Given the description of an element on the screen output the (x, y) to click on. 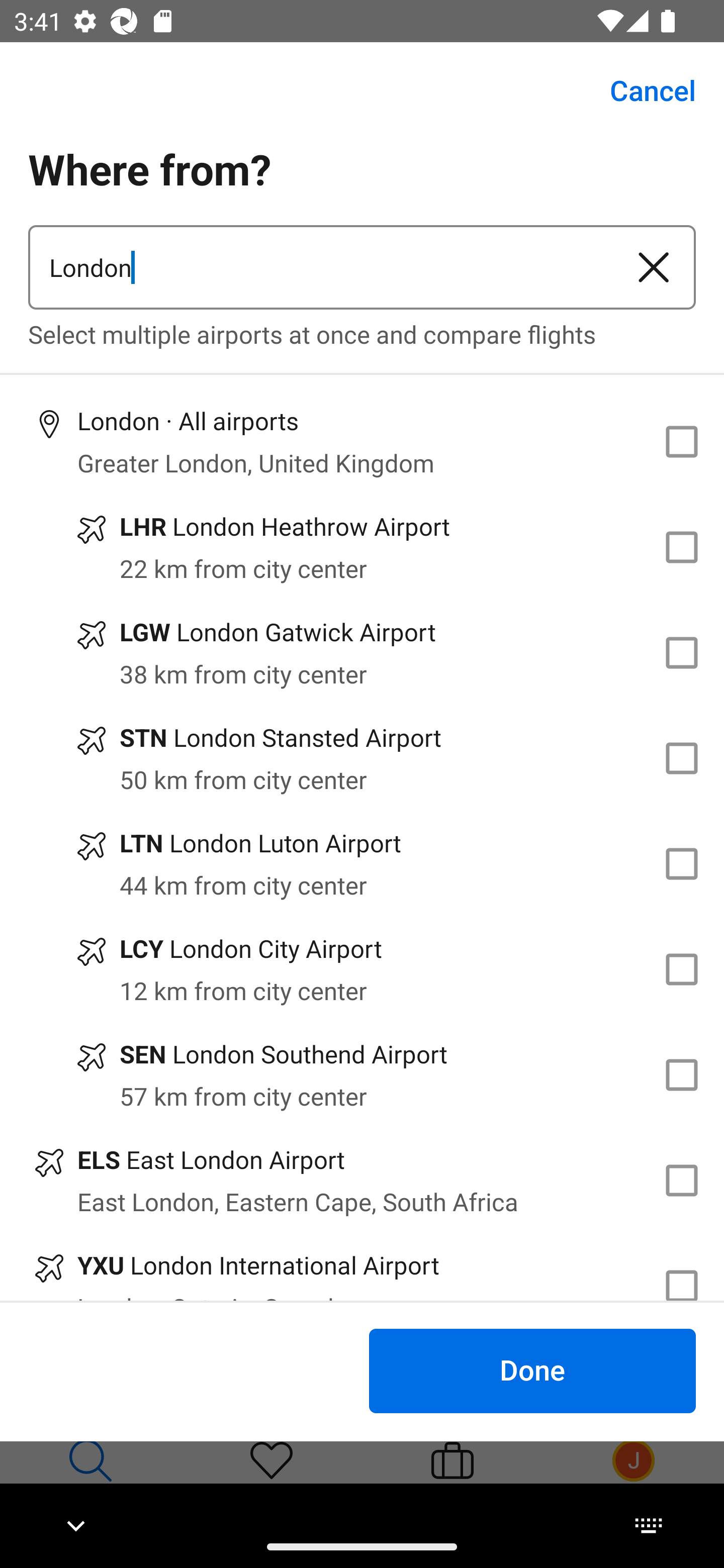
Cancel (641, 90)
London (319, 266)
Clear airport or city (653, 266)
LHR London Heathrow Airport 22 km from city center (362, 547)
LGW London Gatwick Airport 38 km from city center (362, 652)
STN London Stansted Airport 50 km from city center (362, 757)
LTN London Luton Airport 44 km from city center (362, 863)
LCY London City Airport 12 km from city center (362, 969)
SEN London Southend Airport 57 km from city center (362, 1074)
Done (532, 1370)
